Given the description of an element on the screen output the (x, y) to click on. 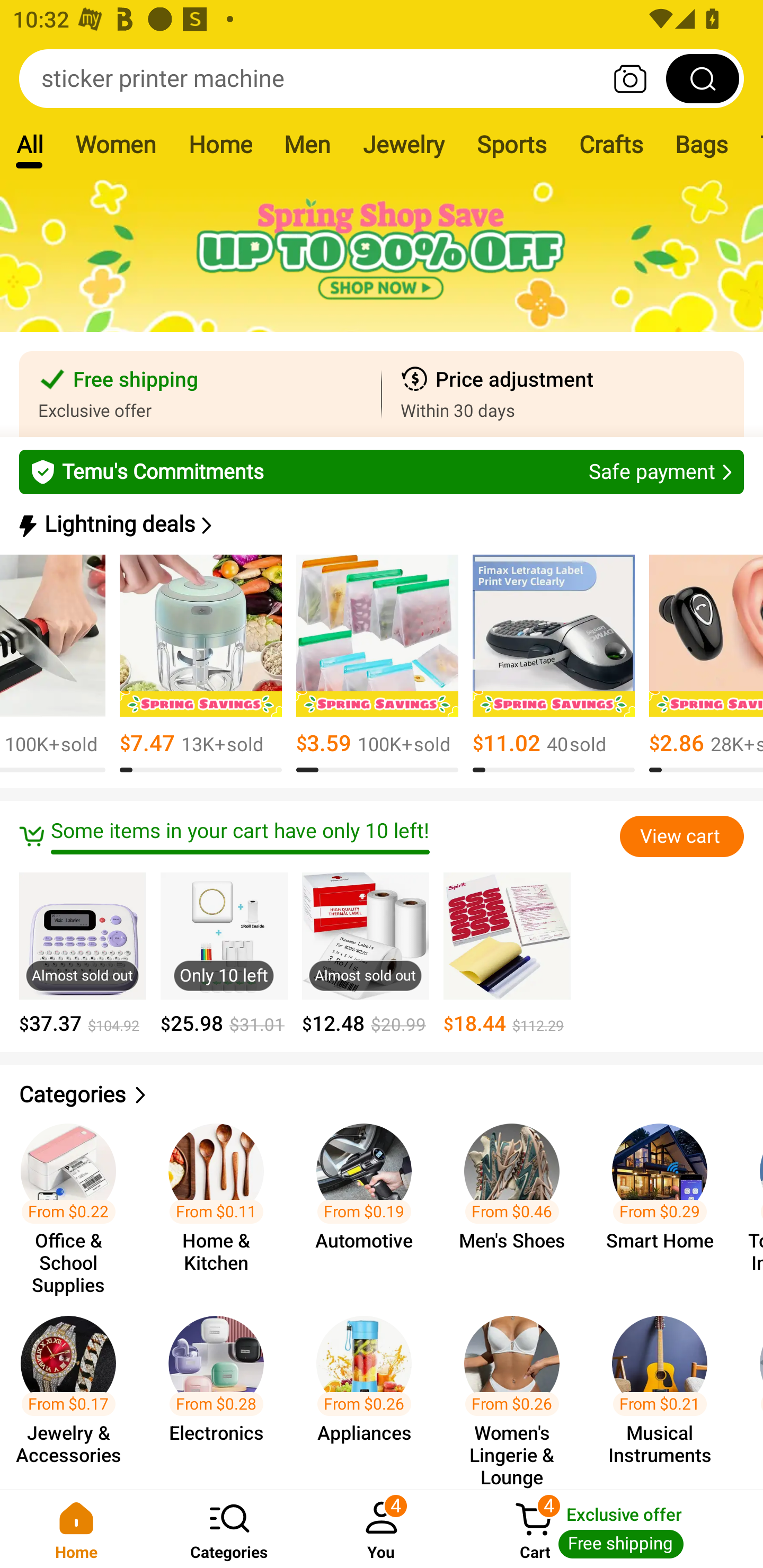
sticker printer machine (381, 78)
All (29, 144)
Women (115, 144)
Home (219, 144)
Men (306, 144)
Jewelry (403, 144)
Sports (511, 144)
Crafts (611, 144)
Bags (701, 144)
Free shipping Exclusive offer (200, 394)
Price adjustment Within 30 days (562, 394)
Temu's Commitments (381, 471)
Lightning deals (379, 524)
100K+￼sold 14.0 (52, 664)
$7.47 13K+￼sold 8.0 (200, 664)
$3.59 100K+￼sold 14.0 (377, 664)
$11.02 40￼sold 8.0 (553, 664)
$2.86 28K+￼sold 8.0 (706, 664)
Some items in your cart have only 10 left! (319, 836)
View cart  (681, 836)
Almost sold out $37.37 $104.92 (82, 953)
Only 10 left $25.98 $31.01 (223, 953)
Almost sold out $12.48 $20.99 (365, 953)
$18.44 $112.29 (506, 953)
Categories (381, 1094)
From $0.22 Office & School Supplies (74, 1199)
From $0.11 Home & Kitchen (222, 1199)
From $0.19 Automotive (369, 1199)
From $0.46 Men's Shoes (517, 1199)
From $0.29 Smart Home (665, 1199)
From $0.17 Jewelry & Accessories (74, 1392)
From $0.28 Electronics (222, 1392)
From $0.26 Appliances (369, 1392)
From $0.26 Women's Lingerie & Lounge (517, 1392)
From $0.21 Musical Instruments (665, 1392)
Home (76, 1528)
Categories (228, 1528)
You 4 You (381, 1528)
Cart 4 Cart Exclusive offer (610, 1528)
